Given the description of an element on the screen output the (x, y) to click on. 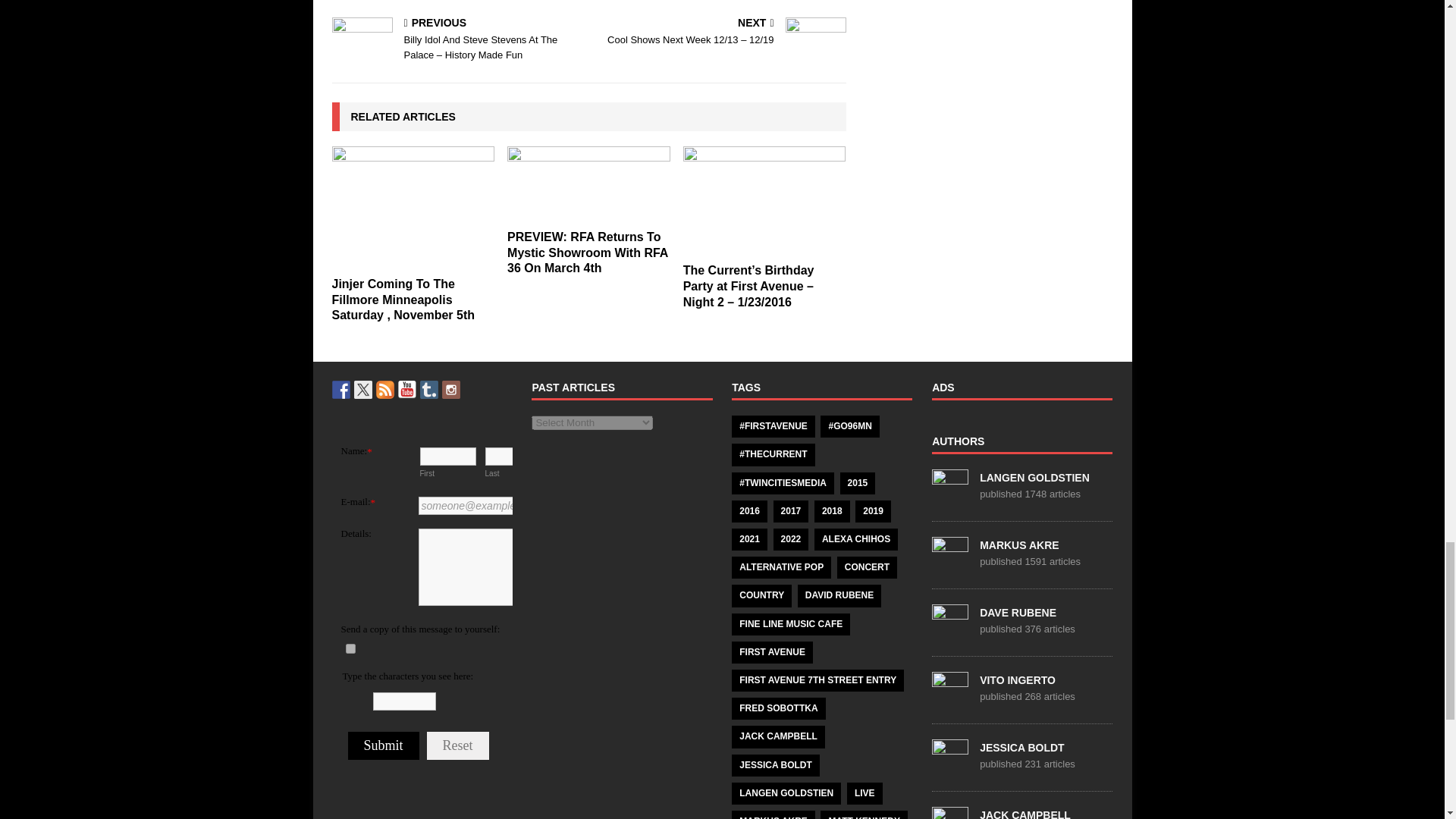
on (350, 648)
